Given the description of an element on the screen output the (x, y) to click on. 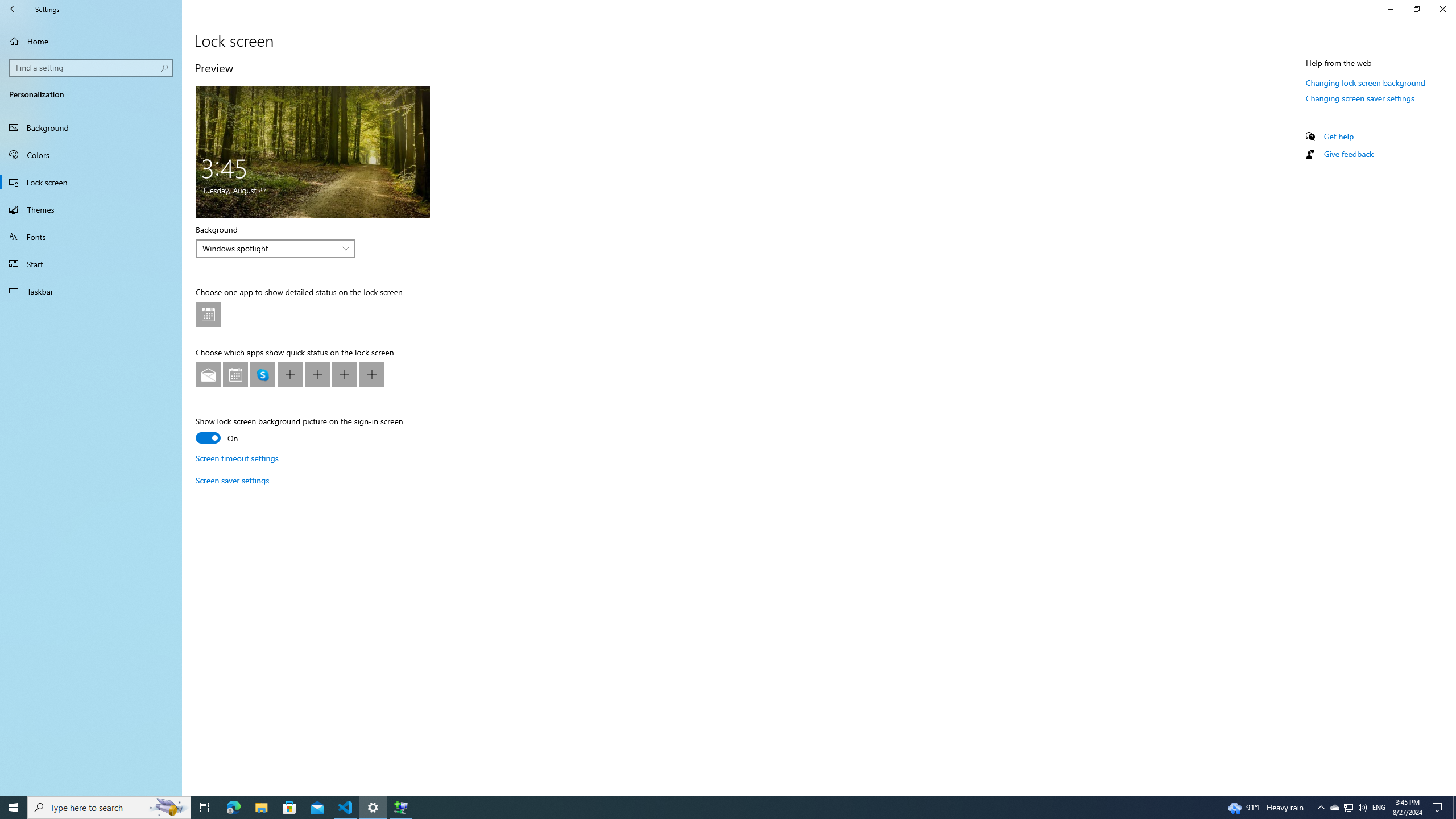
Background (275, 248)
Lock screen app quick status at position 3 (262, 374)
Show lock screen background picture on the sign-in screen (299, 431)
Lock screen app tile status at position 1 (208, 314)
Lock screen (91, 181)
Screen saver settings (232, 480)
Lock screen app quick status at position 2 (234, 374)
Lock screen app quick status at position 6 (343, 374)
Changing lock screen background (1365, 82)
